Given the description of an element on the screen output the (x, y) to click on. 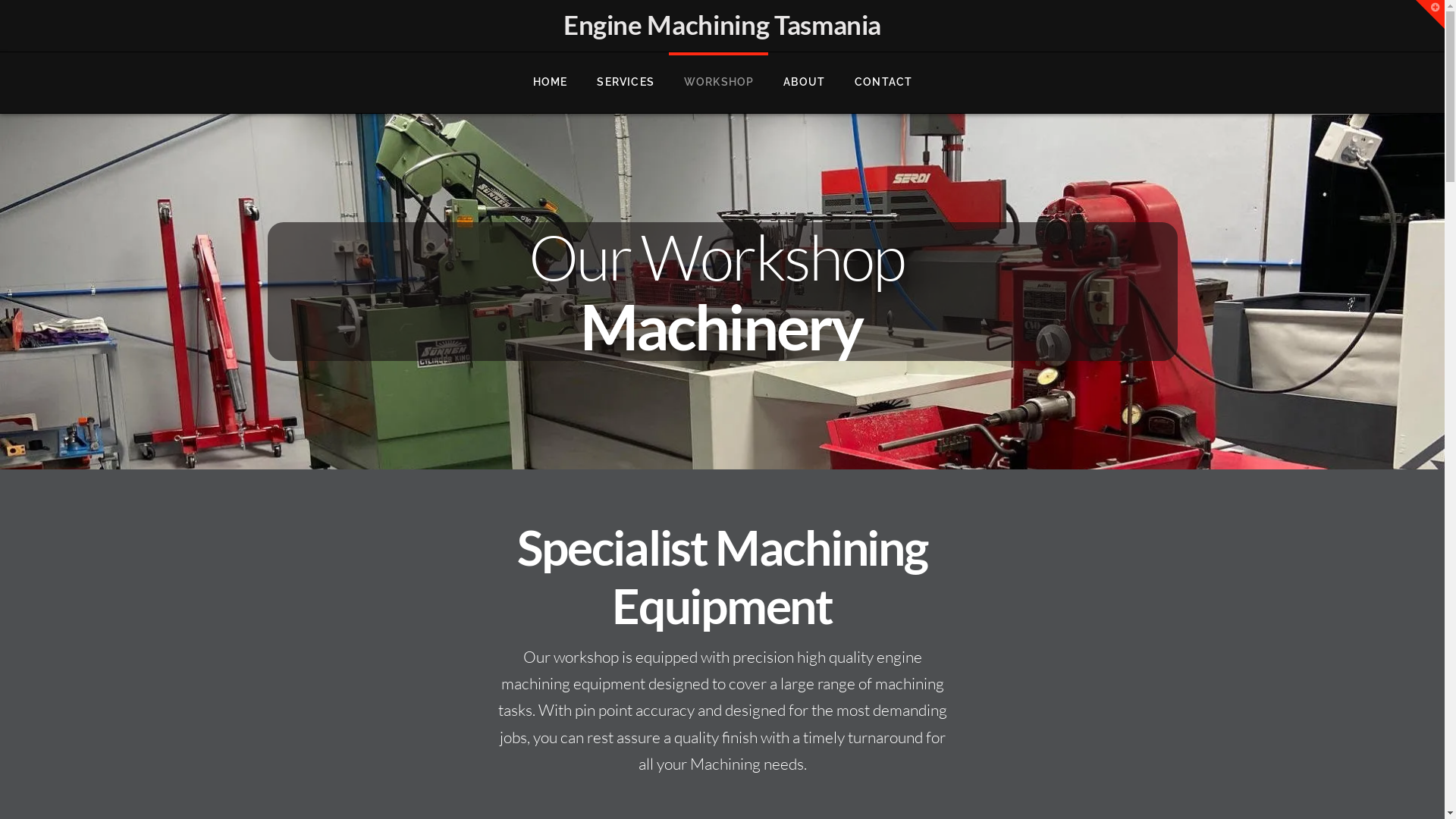
Toggle the Widgetbar Element type: text (1429, 14)
WORKSHOP Element type: text (718, 82)
Engine Machining Tasmania Element type: text (722, 24)
ABOUT Element type: text (803, 82)
CONTACT Element type: text (882, 82)
SERVICES Element type: text (624, 82)
HOME Element type: text (549, 82)
